Given the description of an element on the screen output the (x, y) to click on. 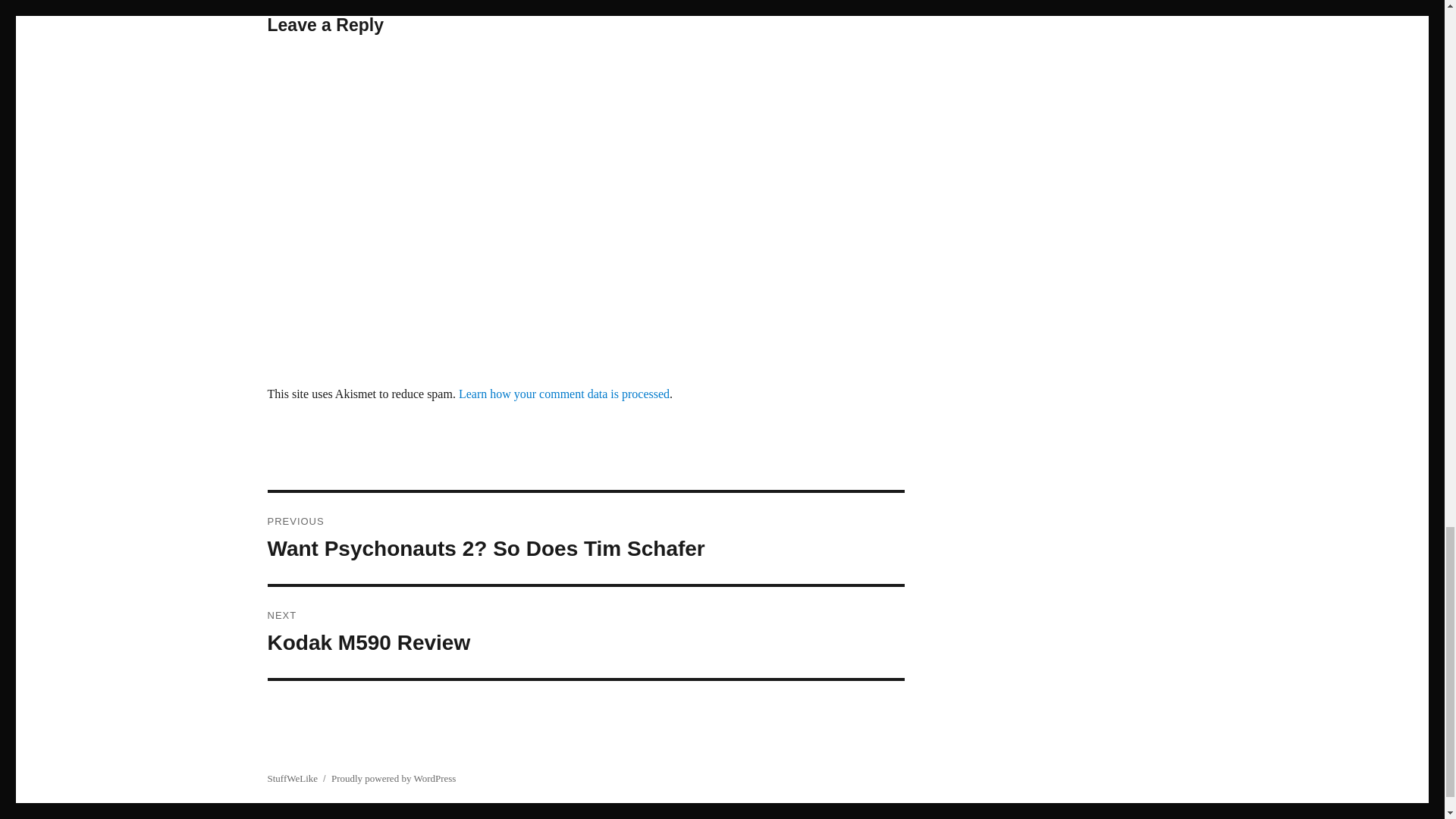
Comment Form (585, 632)
